Given the description of an element on the screen output the (x, y) to click on. 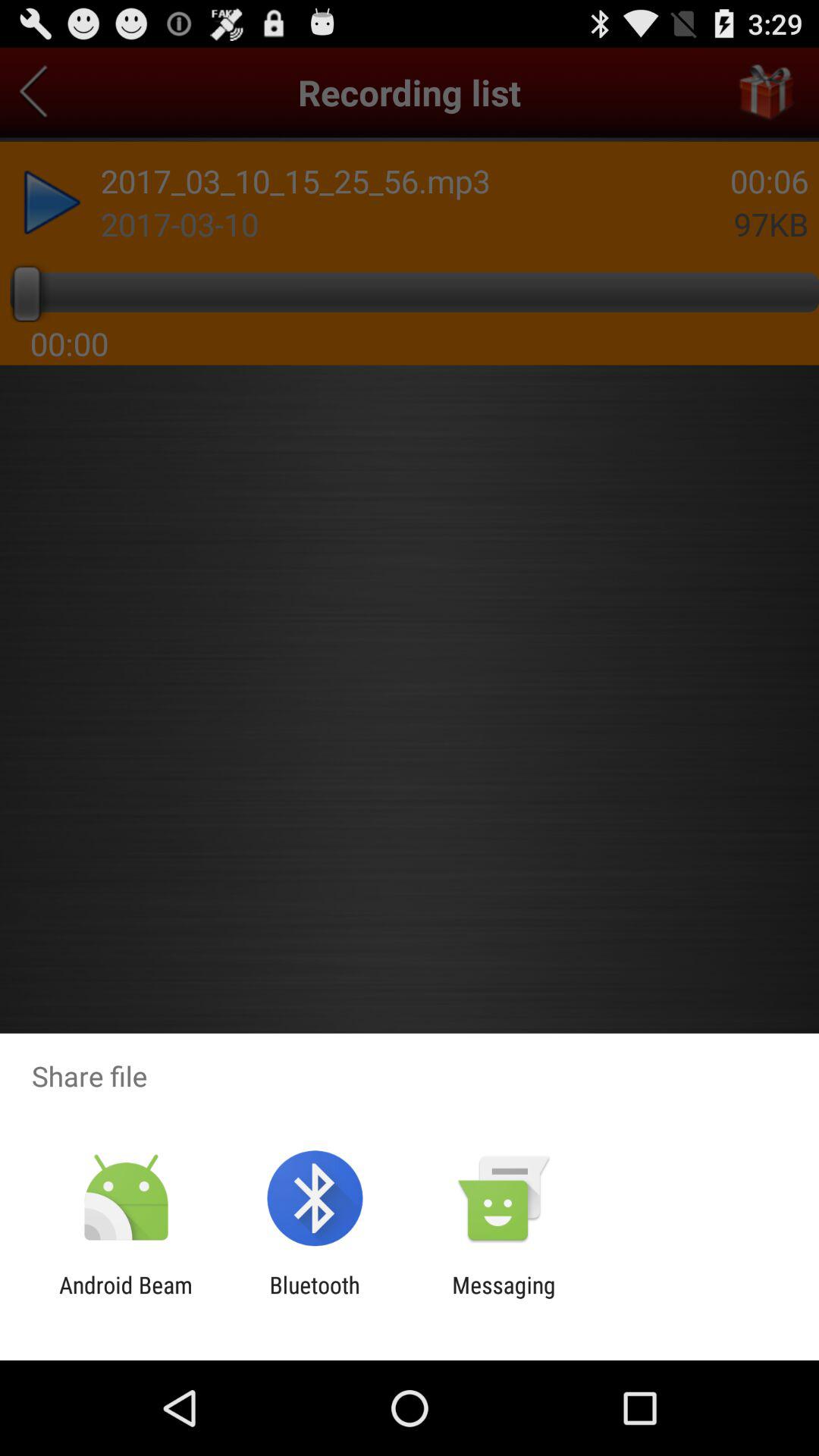
turn on the item next to bluetooth (503, 1298)
